Given the description of an element on the screen output the (x, y) to click on. 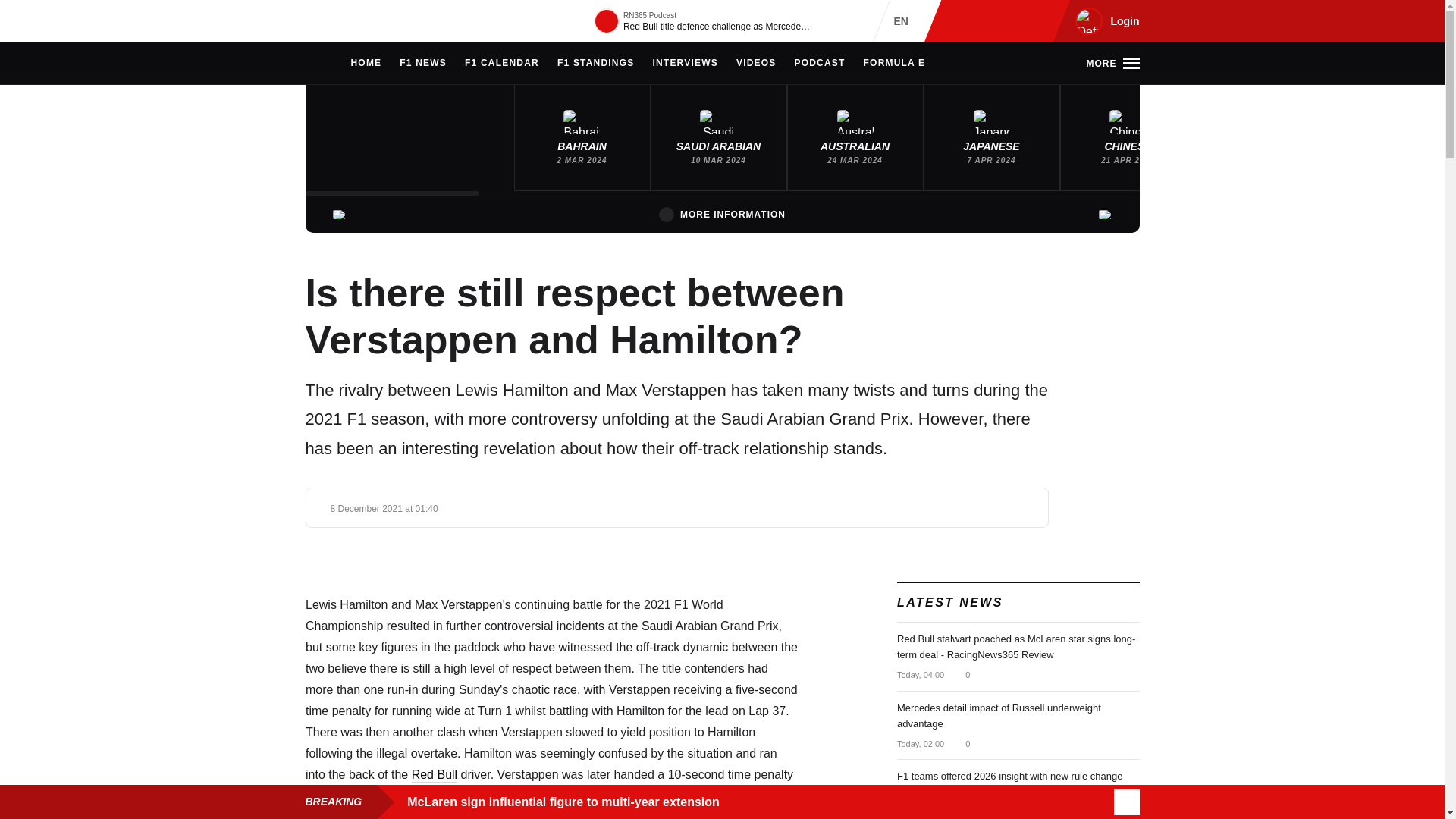
PODCAST (818, 63)
RacingNews365 on YouTube (1034, 21)
F1 NEWS (422, 63)
RacingNews365 (350, 21)
F1 STANDINGS (595, 63)
MORE INFORMATION (722, 214)
Login (1104, 21)
FORMULA E (894, 63)
RacingNews365 on Facebook (986, 21)
RacingNews365 on X (1010, 21)
F1 CALENDAR (501, 63)
Wednesday 8 December 2021 at 01:40 (384, 508)
INTERVIEWS (684, 63)
VIDEOS (756, 63)
RacingNews365 on Instagram (962, 21)
